Given the description of an element on the screen output the (x, y) to click on. 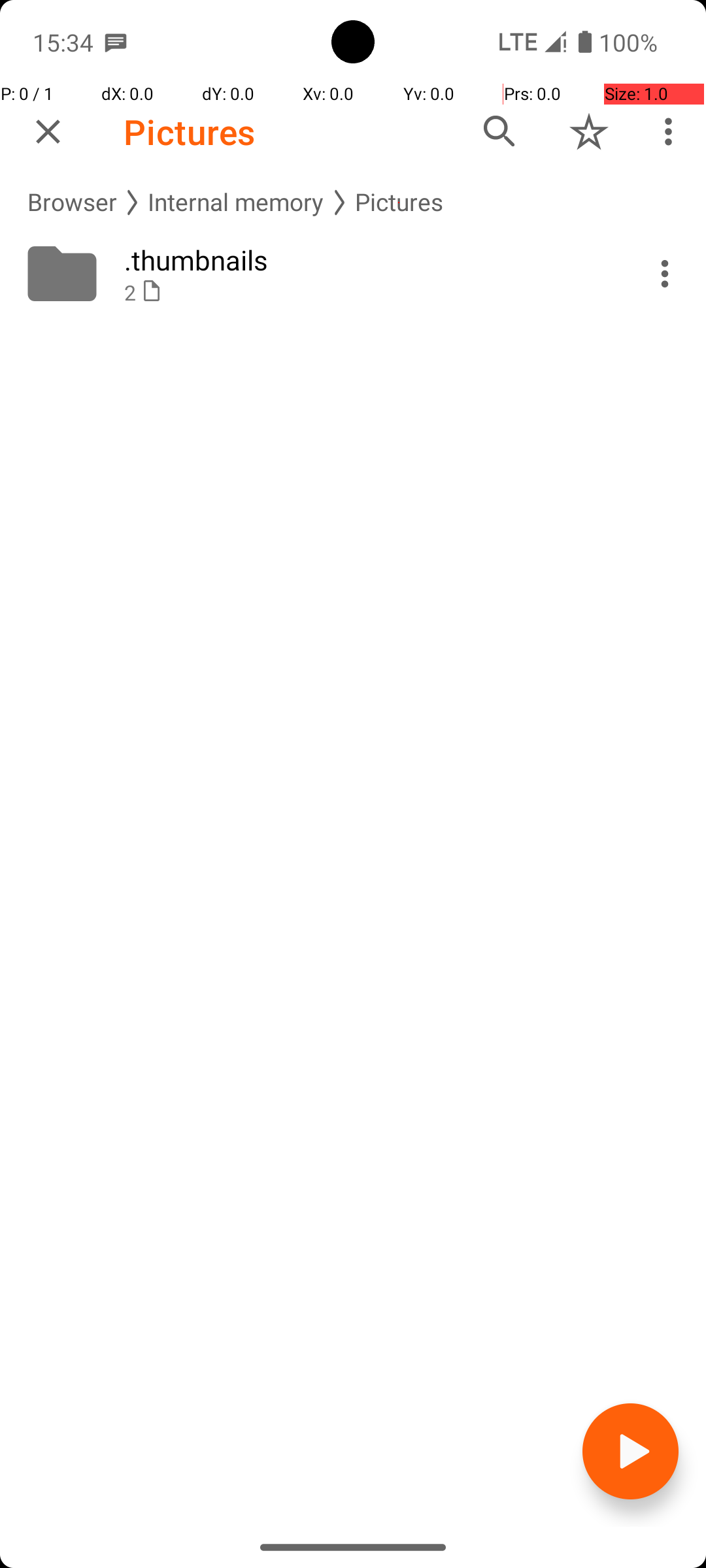
Pictures Element type: android.widget.TextView (189, 131)
Folder: .thumbnails, 2 media files Element type: android.view.ViewGroup (353, 273)
.thumbnails Element type: android.widget.TextView (366, 259)
2 *§* Element type: android.widget.TextView (366, 292)
